Given the description of an element on the screen output the (x, y) to click on. 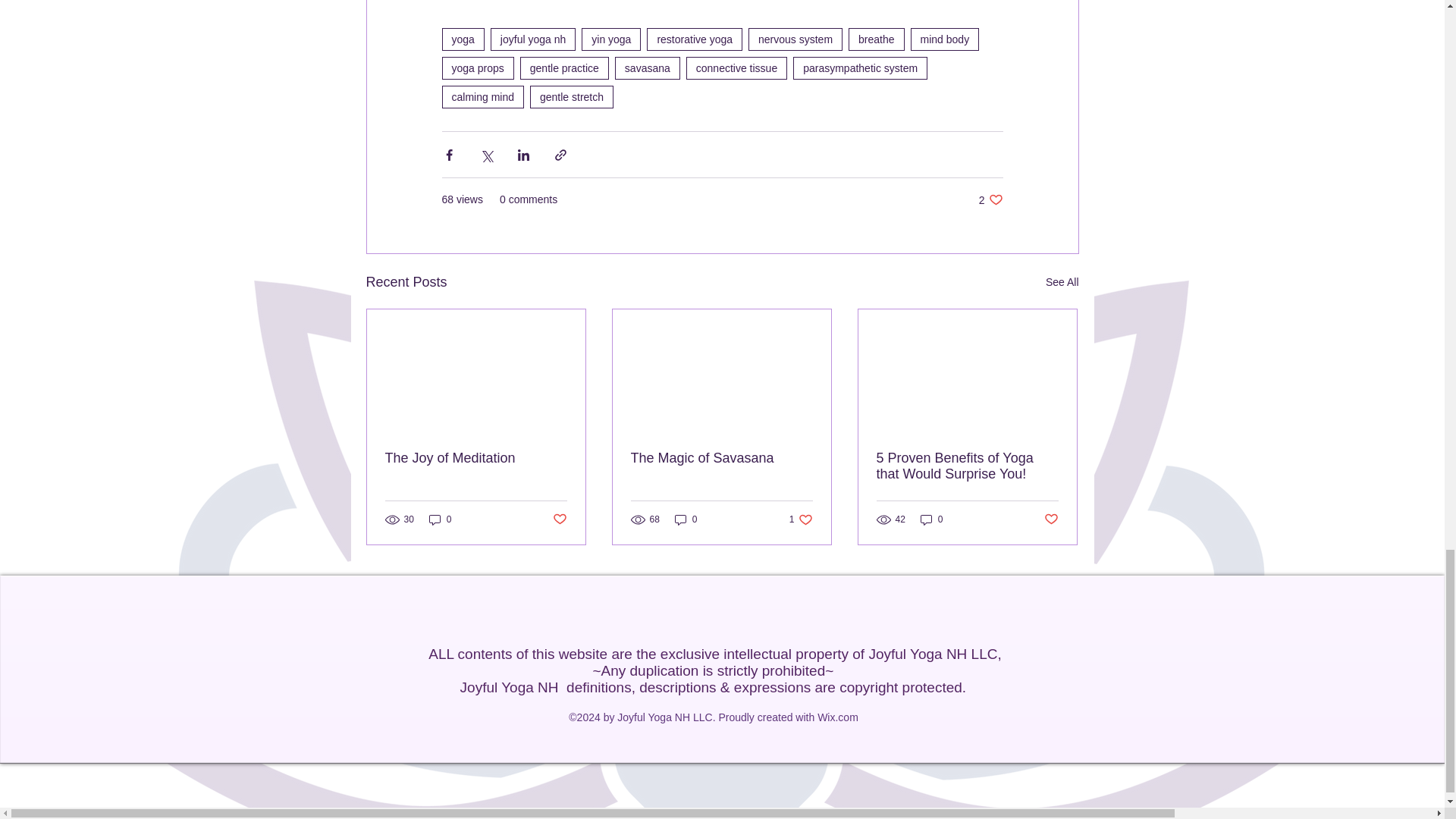
gentle practice (563, 67)
joyful yoga nh (532, 38)
savasana (646, 67)
yoga props (477, 67)
nervous system (795, 38)
calming mind (481, 96)
yin yoga (610, 38)
mind body (945, 38)
restorative yoga (694, 38)
parasympathetic system (860, 67)
yoga (462, 38)
gentle stretch (570, 96)
breathe (876, 38)
connective tissue (736, 67)
